Given the description of an element on the screen output the (x, y) to click on. 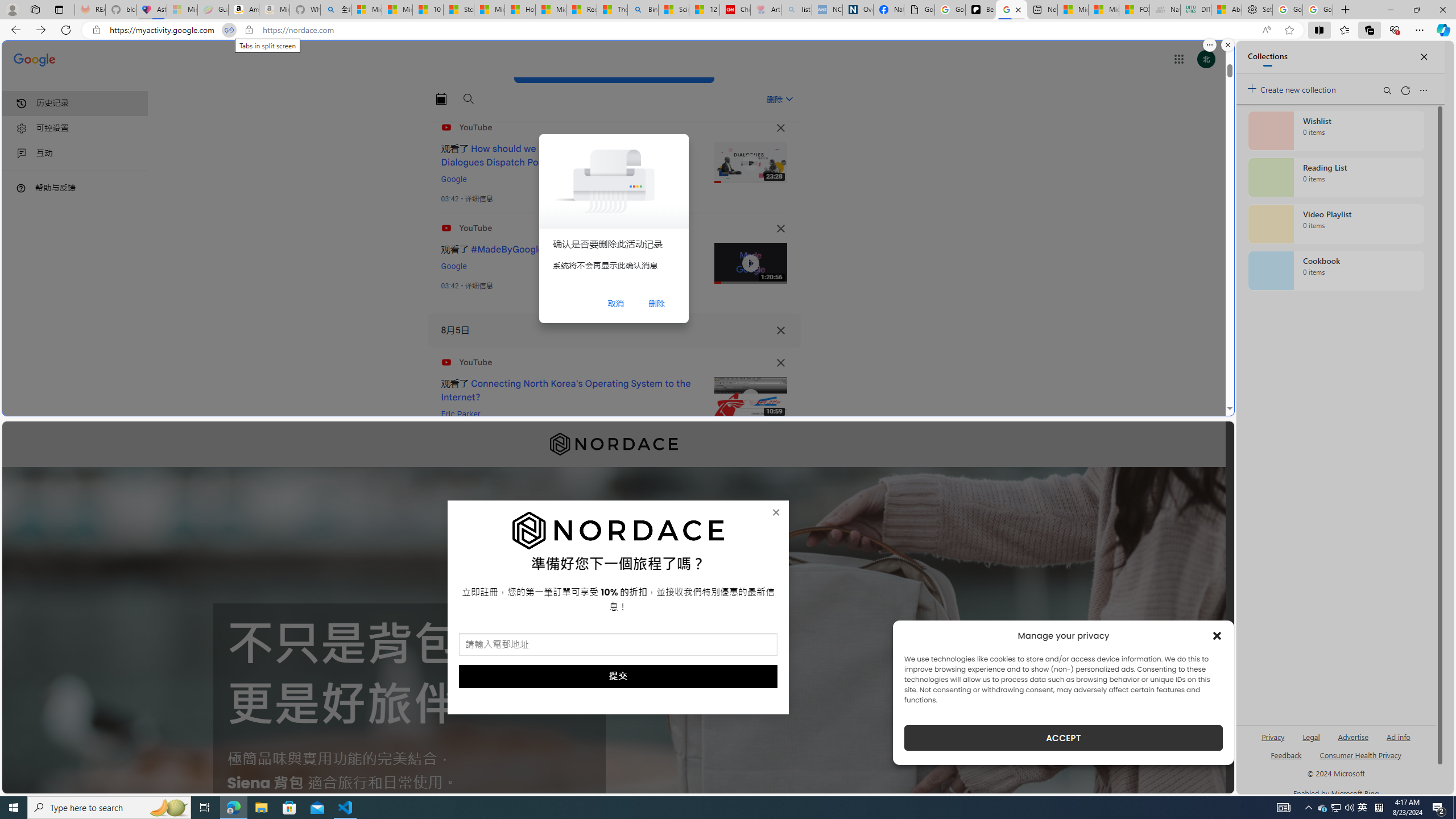
AutomationID: genId96 (1285, 759)
Class: DI7Mnf NMm5M (780, 330)
FOX News - MSN (1133, 9)
